Given the description of an element on the screen output the (x, y) to click on. 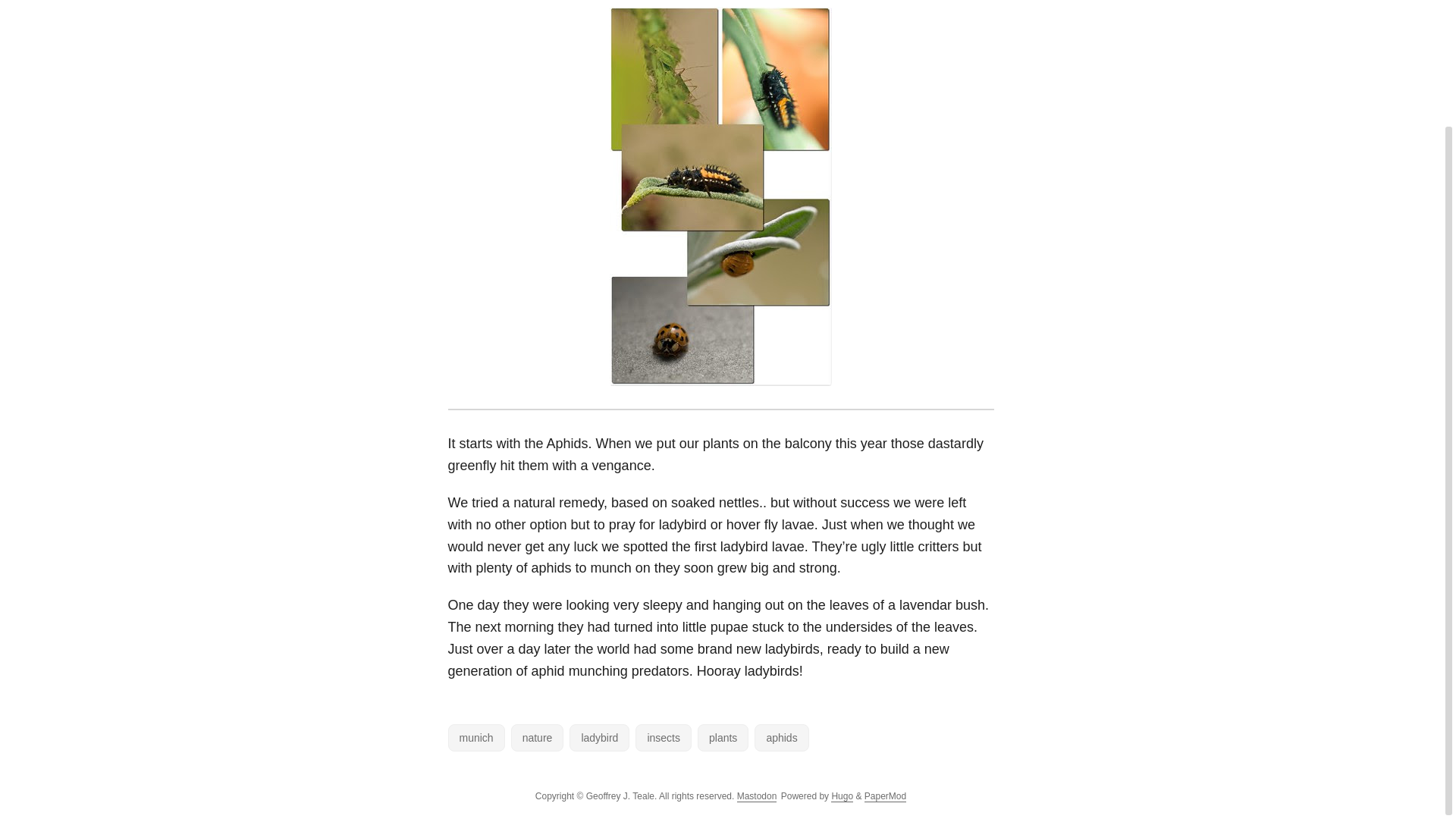
Hugo (842, 796)
Mastodon (756, 796)
munich (474, 737)
insects (662, 737)
plants (722, 737)
aphids (781, 737)
ladybird (598, 737)
PaperMod (884, 796)
nature (537, 737)
